Given the description of an element on the screen output the (x, y) to click on. 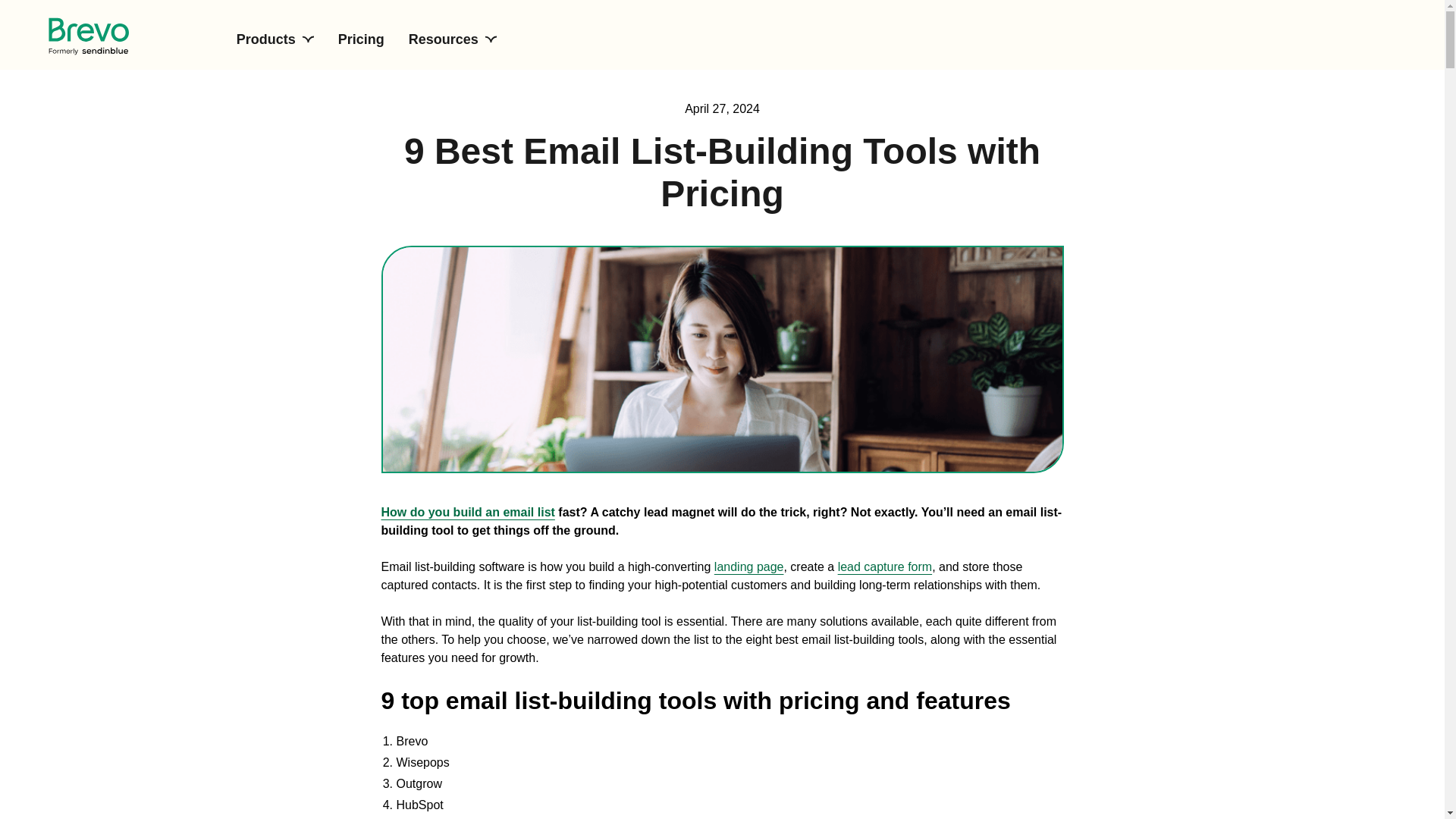
Resources (452, 39)
Products (274, 39)
Pricing (360, 39)
